Given the description of an element on the screen output the (x, y) to click on. 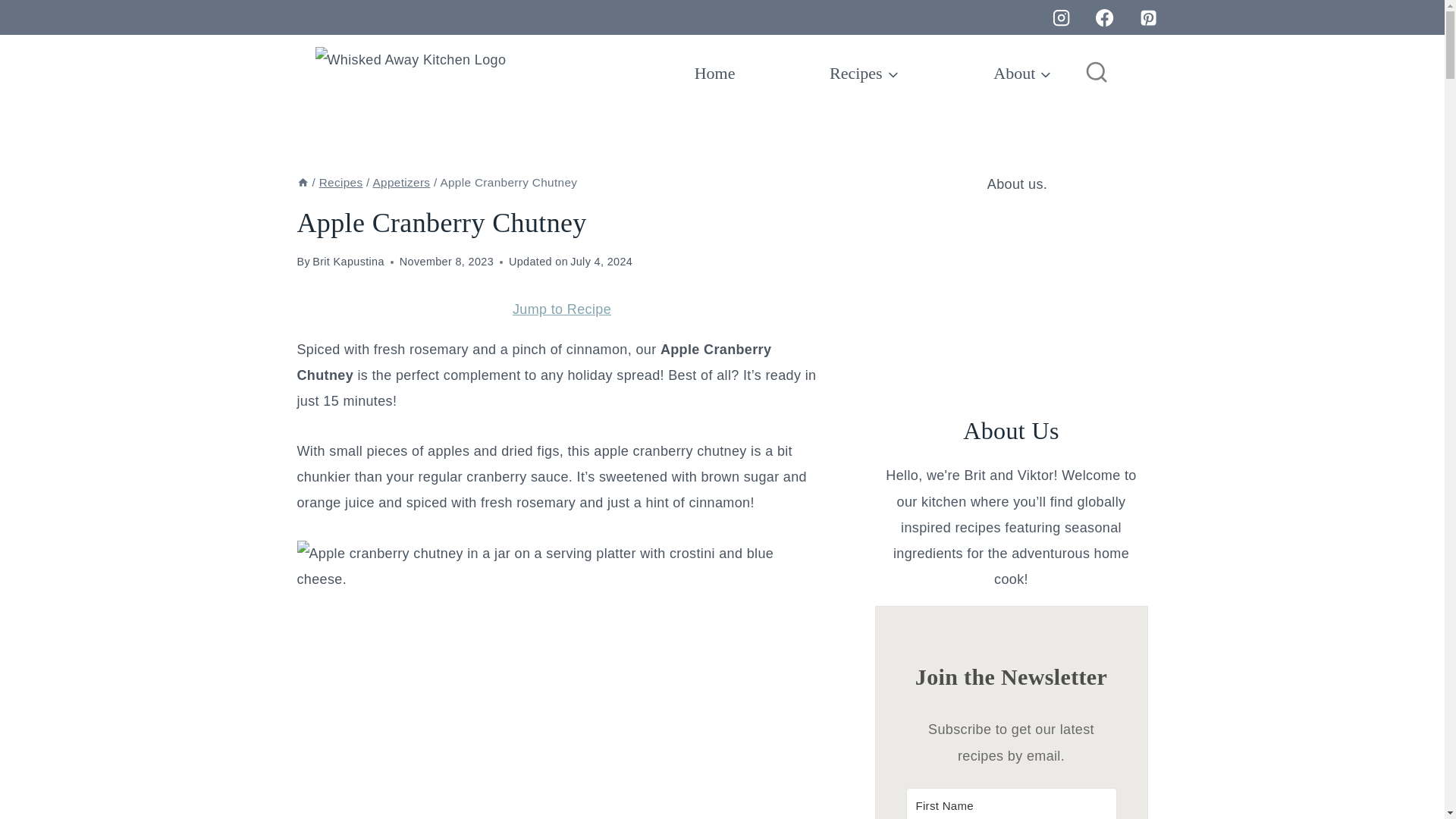
Recipes (340, 182)
Appetizers (401, 182)
Jump to Recipe (561, 309)
About (1022, 73)
Brit Kapustina (348, 261)
Jump to Recipe (561, 309)
Recipes (864, 73)
Home (714, 73)
